Given the description of an element on the screen output the (x, y) to click on. 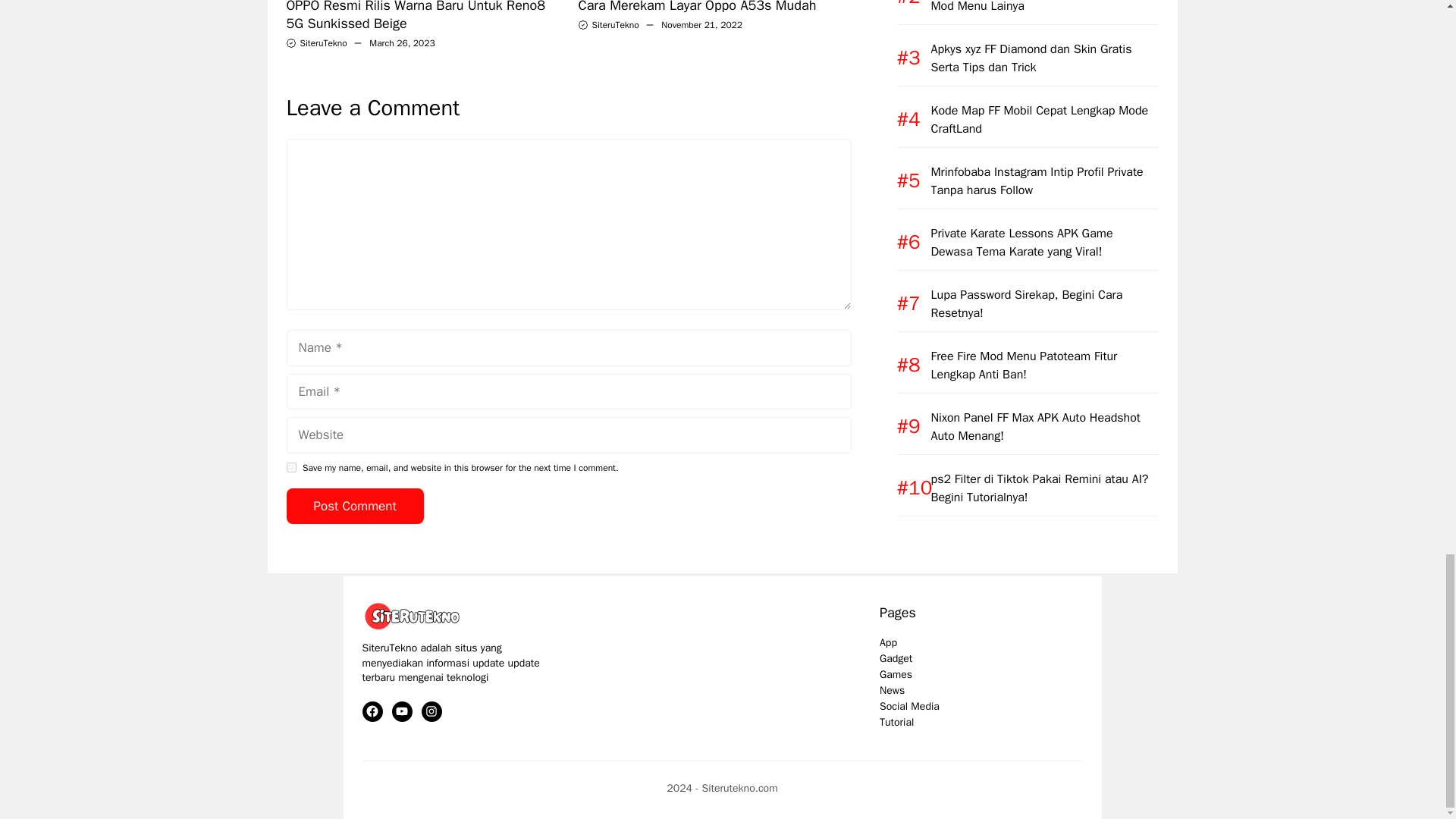
yes (291, 467)
SiteruTekno (323, 42)
Post Comment (354, 506)
OPPO Resmi Rilis Warna Baru Untuk Reno8 5G Sunkissed Beige (416, 15)
SiteruTekno (615, 24)
SiteruTekno.com (415, 615)
Post Comment (354, 506)
Cara Merekam Layar Oppo A53s Mudah (696, 6)
